Given the description of an element on the screen output the (x, y) to click on. 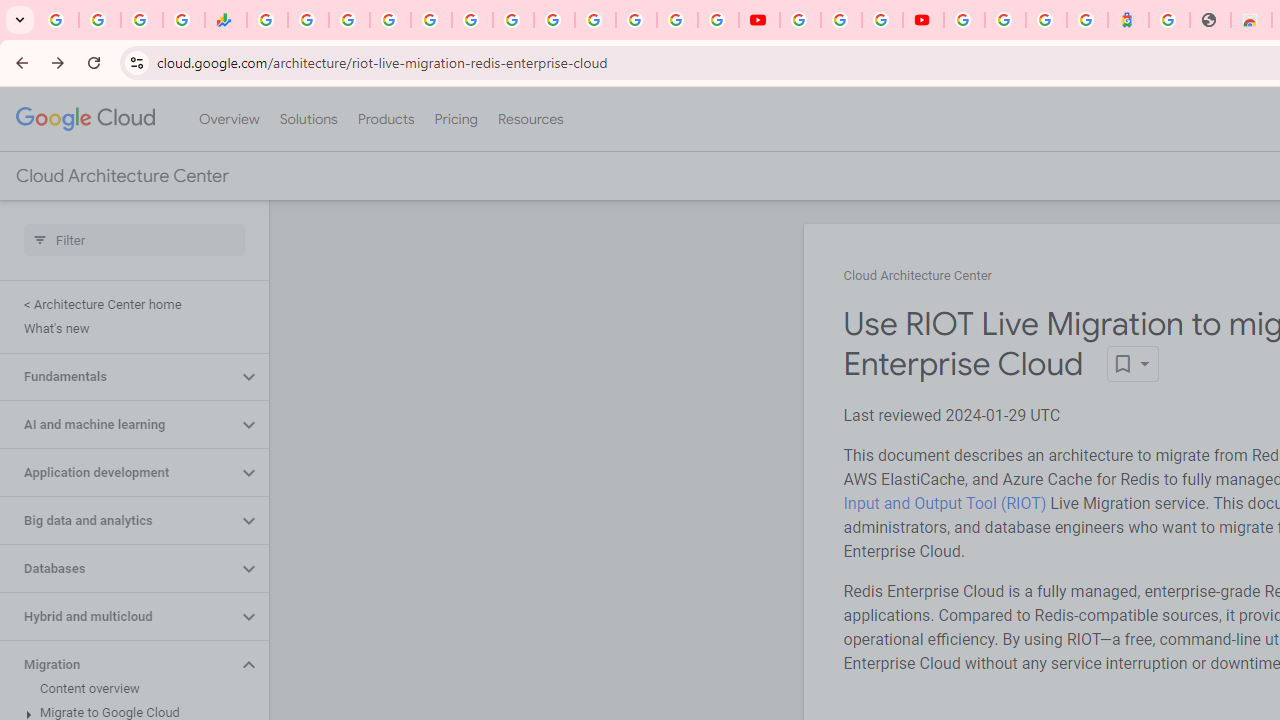
Solutions (308, 119)
Products (385, 119)
AI and machine learning (118, 425)
YouTube (553, 20)
